Given the description of an element on the screen output the (x, y) to click on. 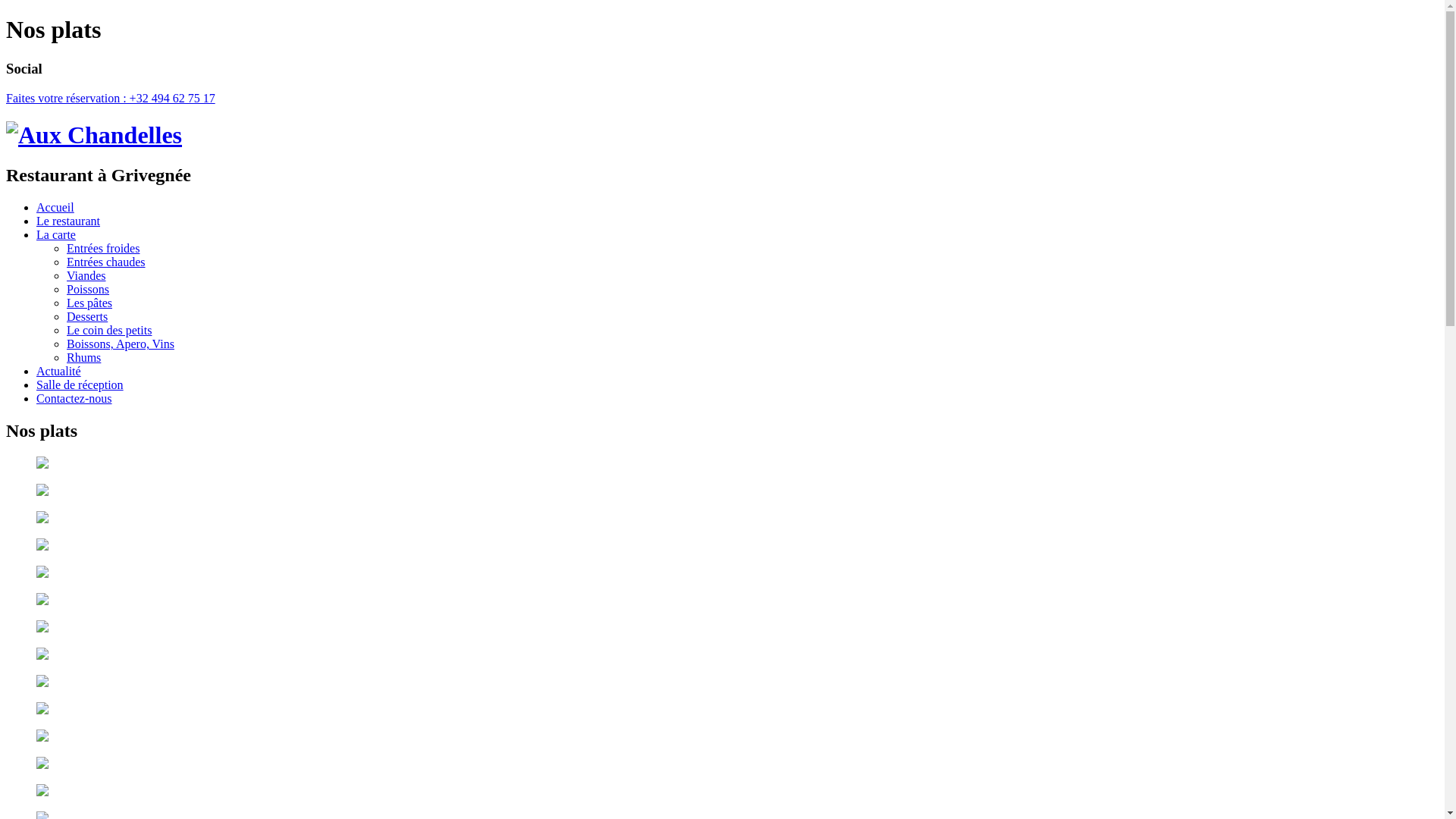
Boissons, Apero, Vins Element type: text (120, 343)
Contactez-nous Element type: text (74, 398)
Le restaurant Element type: text (68, 220)
Desserts Element type: text (86, 316)
Le coin des petits Element type: text (108, 329)
Viandes Element type: text (85, 275)
209666905_4142777869137992_2711902648900331147_n Element type: hover (722, 792)
241116663_4329262573822853_4452893222456363974_n Element type: hover (722, 764)
244749388_4442984942450615_1561938505185768123_n Element type: hover (722, 683)
Rhums Element type: text (83, 357)
20479464_1454156958000110_1030217607238474412_n Element type: hover (722, 546)
38071481_10216602749723735_7063841731438968832_n Element type: hover (722, 464)
a Element type: hover (722, 601)
245043891_4452731738142602_1879873557475442392_n Element type: hover (722, 628)
21034481_1518210091576237_4844650839770458205_n Element type: hover (722, 519)
20133477_484365685230836_250057290_o Element type: hover (722, 491)
28208712_575663446101059_1818842521_o Element type: hover (722, 573)
La carte Element type: text (55, 234)
242728832_4408451895903920_7671410500329084032_n Element type: hover (722, 737)
Accueil Element type: text (55, 206)
Poissons Element type: text (87, 288)
242765000_4408452169237226_428170148592679367_n Element type: hover (722, 710)
245002913_4452731661475943_543658328926899990_n Element type: hover (722, 655)
